Given the description of an element on the screen output the (x, y) to click on. 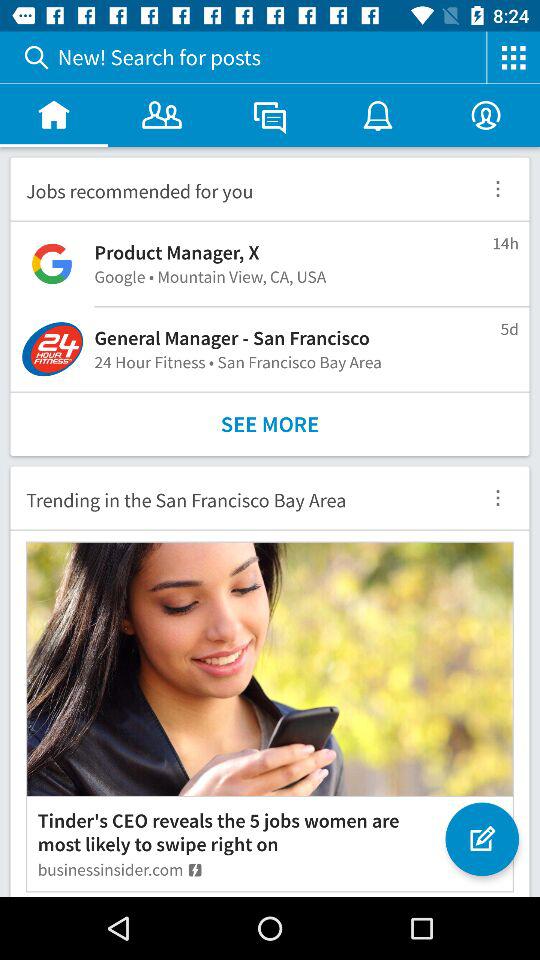
press icon next to the tinder s ceo (480, 828)
